Given the description of an element on the screen output the (x, y) to click on. 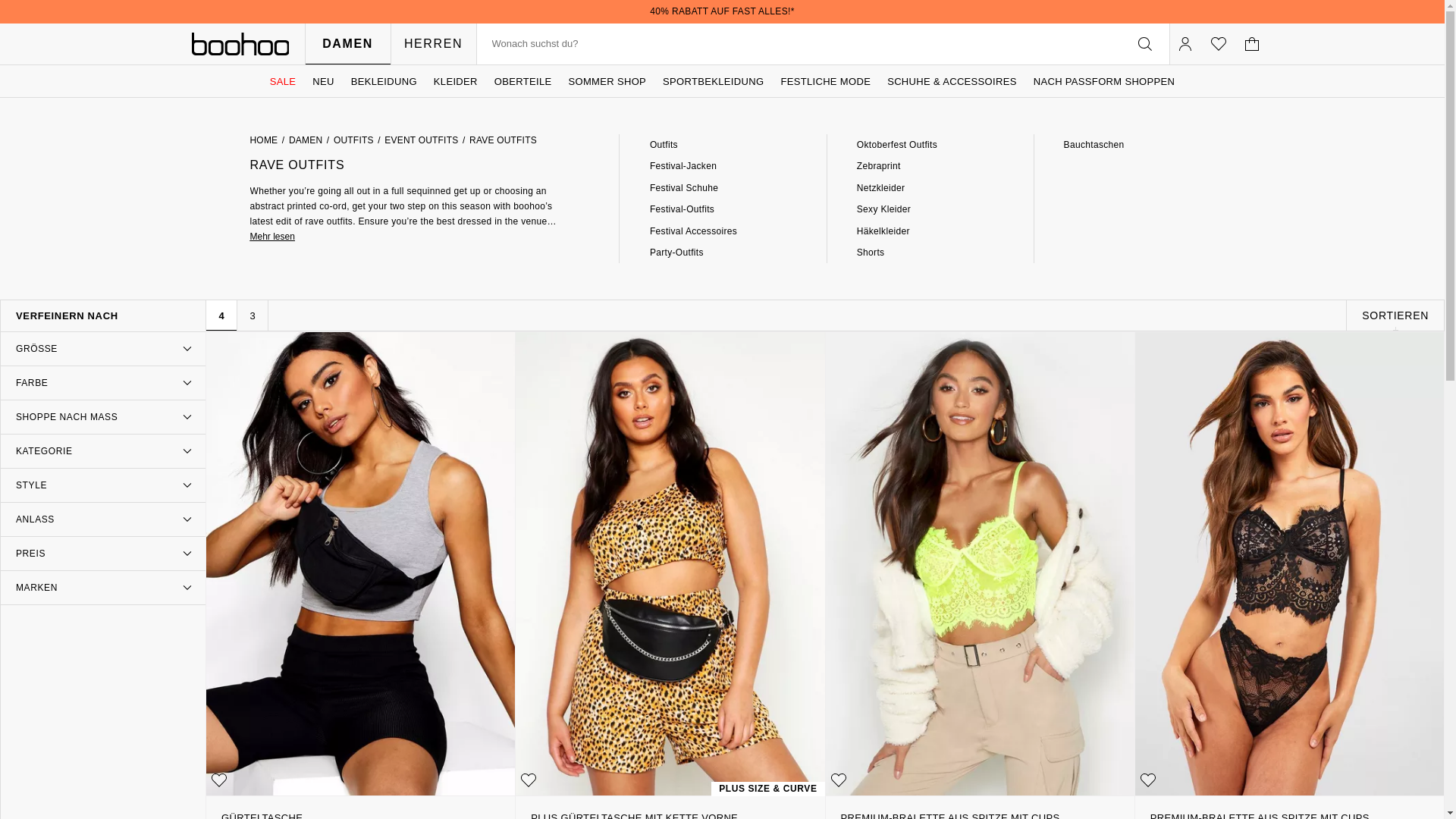
HERREN (433, 43)
SALE (283, 81)
DAMEN (347, 43)
Boohoo (239, 43)
